Given the description of an element on the screen output the (x, y) to click on. 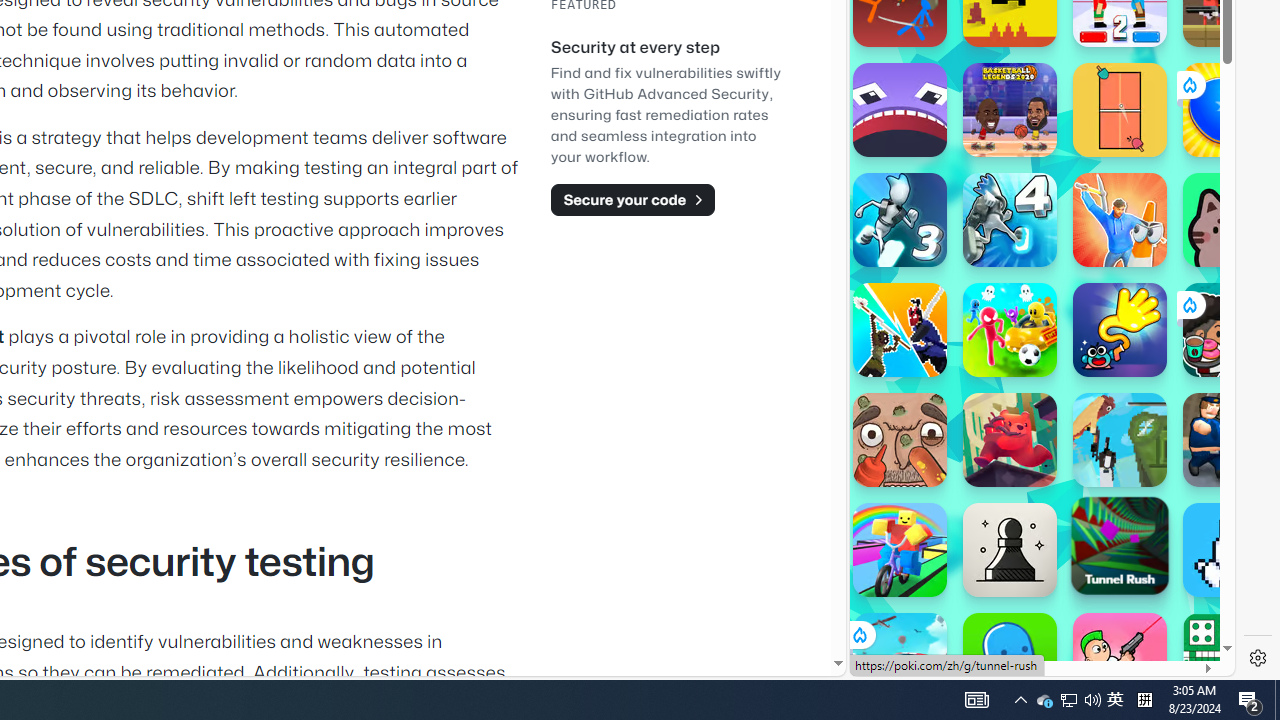
Combat Reloaded (1092, 300)
Hills of Steel (943, 300)
G-Switch 3 G-Switch 3 (899, 219)
Ludo Multiplayer (1229, 659)
Stickman Crazy Box (1009, 329)
Goober World (1009, 659)
Rainbow Obby (899, 549)
Escape From School (1229, 439)
